Given the description of an element on the screen output the (x, y) to click on. 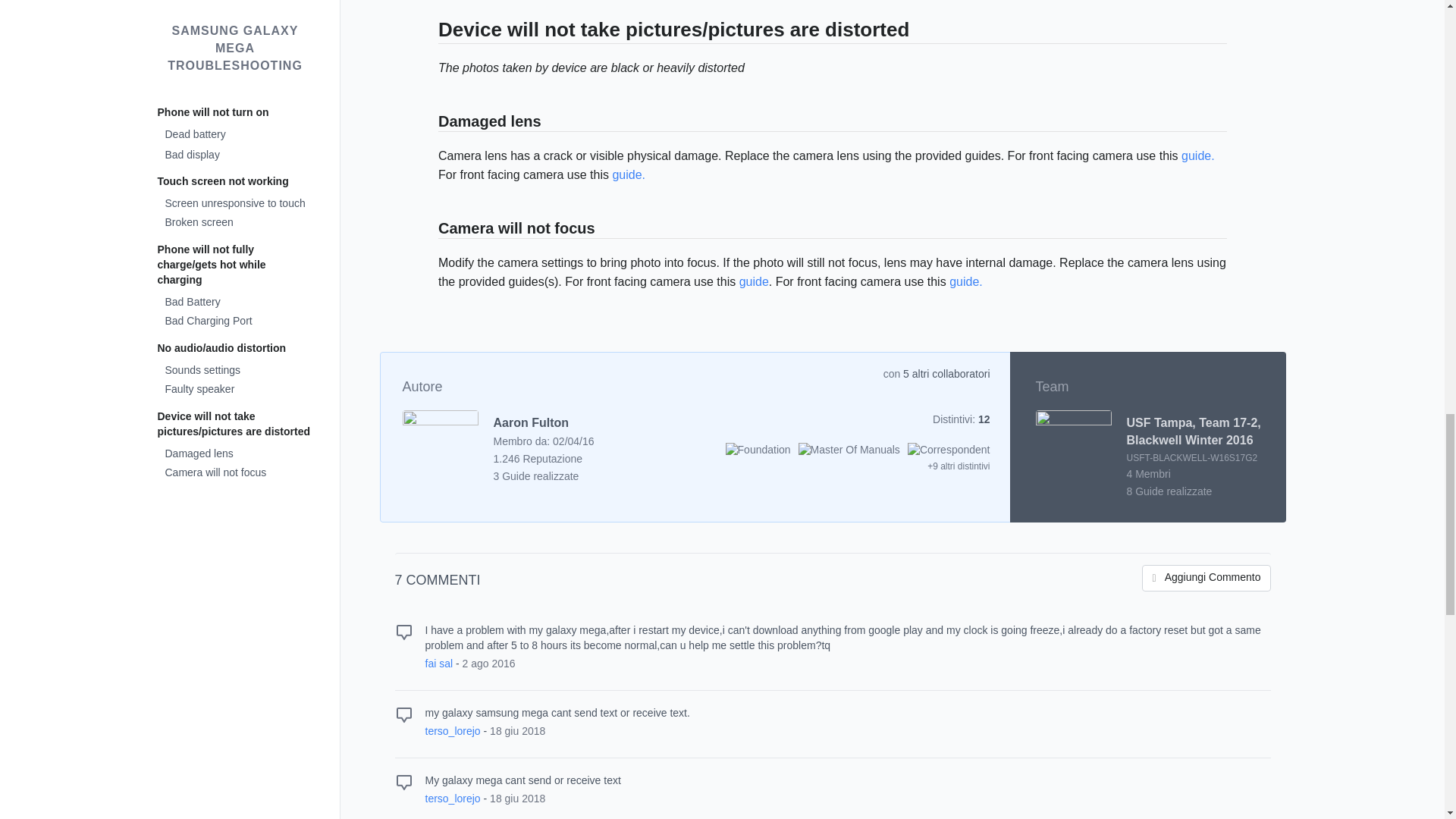
Aggiungi Commento (1205, 578)
Fai modifiche a cinque guide differenti (948, 449)
Aggiungi Commento (1205, 578)
Link a questa sezione (430, 229)
Link a questa sezione (430, 122)
Link a questa sezione (430, 32)
